Given the description of an element on the screen output the (x, y) to click on. 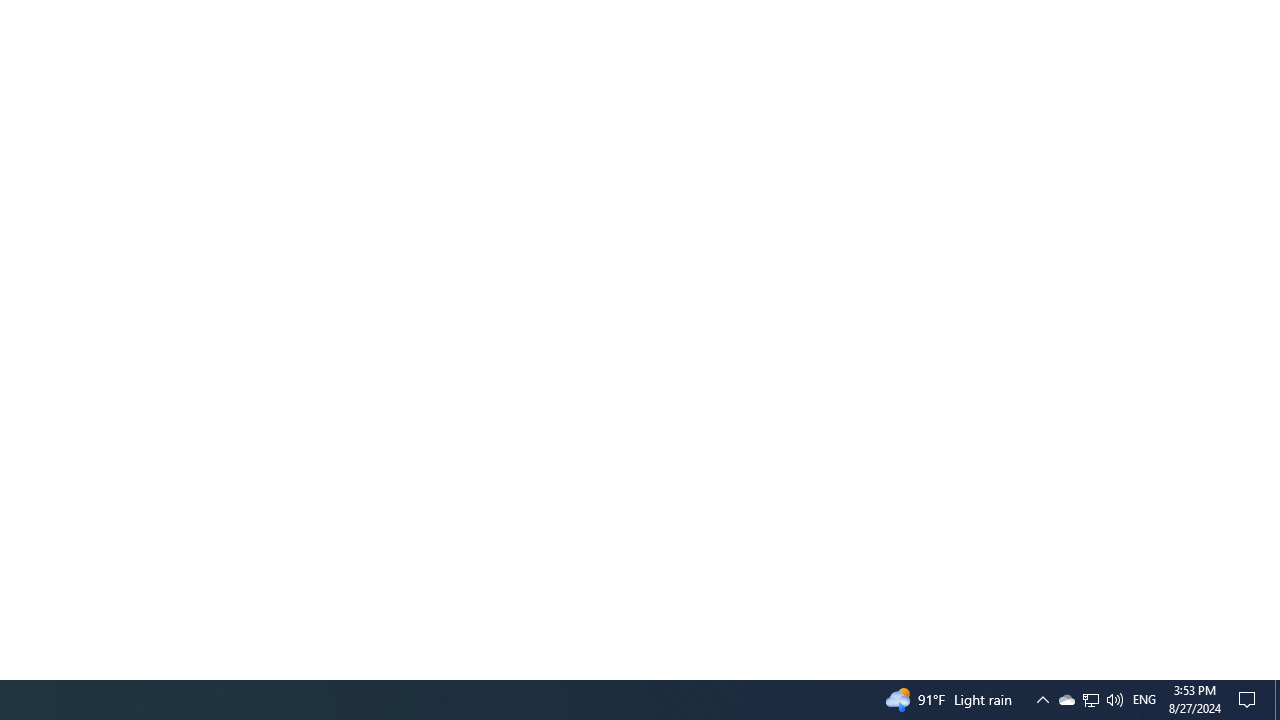
Tray Input Indicator - English (United States) (1144, 699)
